Given the description of an element on the screen output the (x, y) to click on. 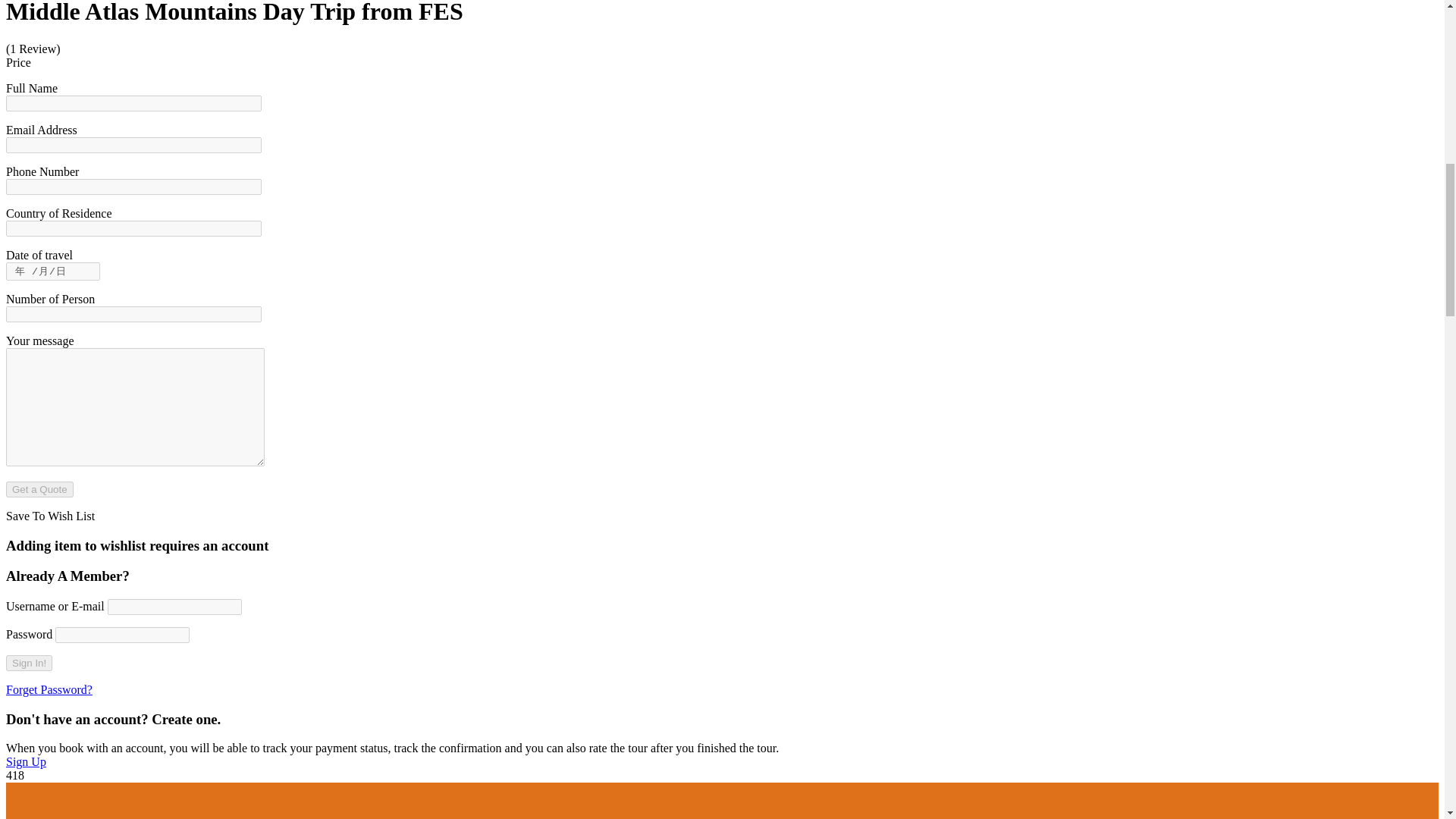
Sign In! (28, 662)
Get a Quote (39, 489)
